Given the description of an element on the screen output the (x, y) to click on. 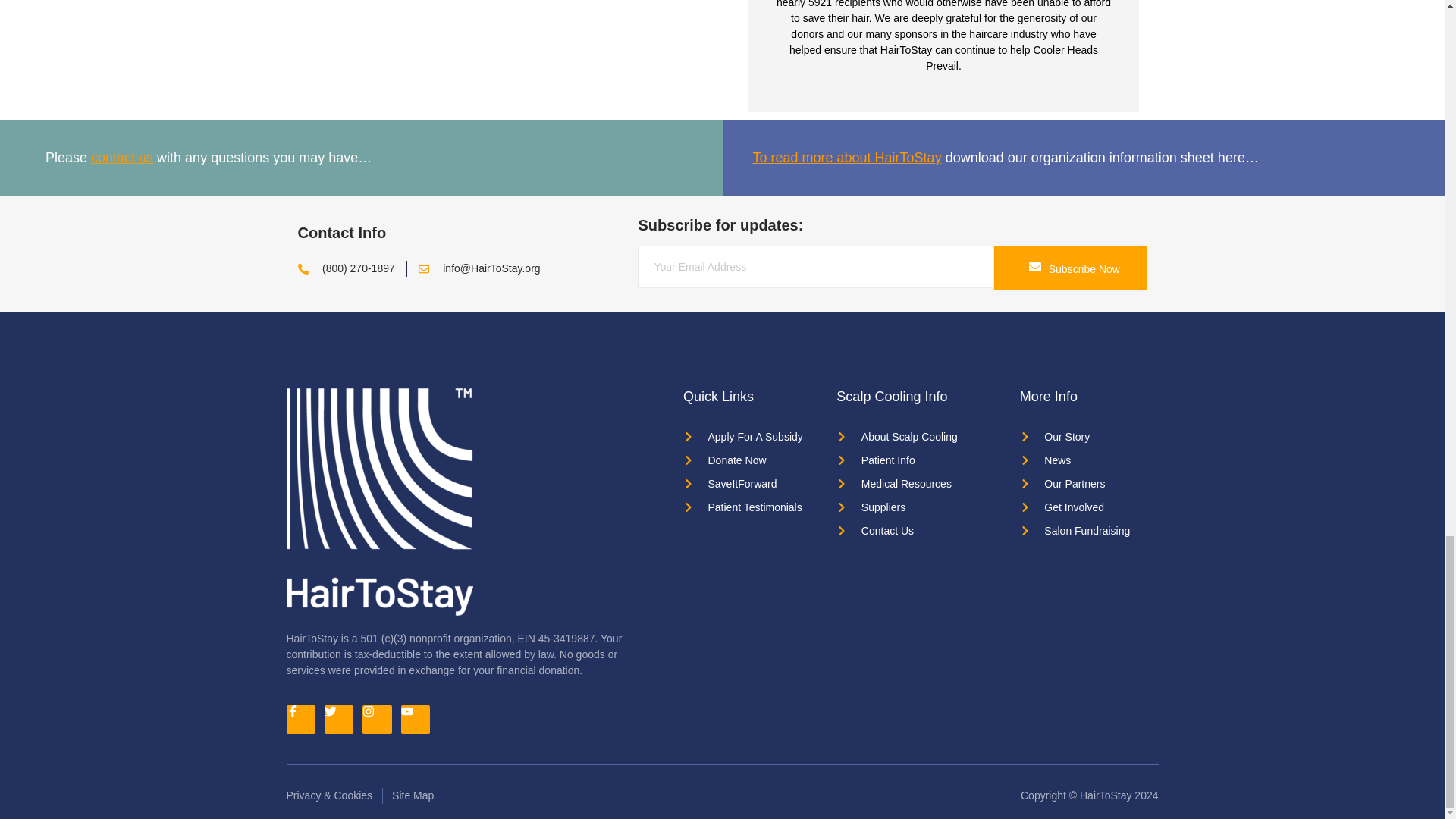
To read more about HairToStay (846, 157)
contact us (121, 157)
Subscribe Now (1070, 267)
